Given the description of an element on the screen output the (x, y) to click on. 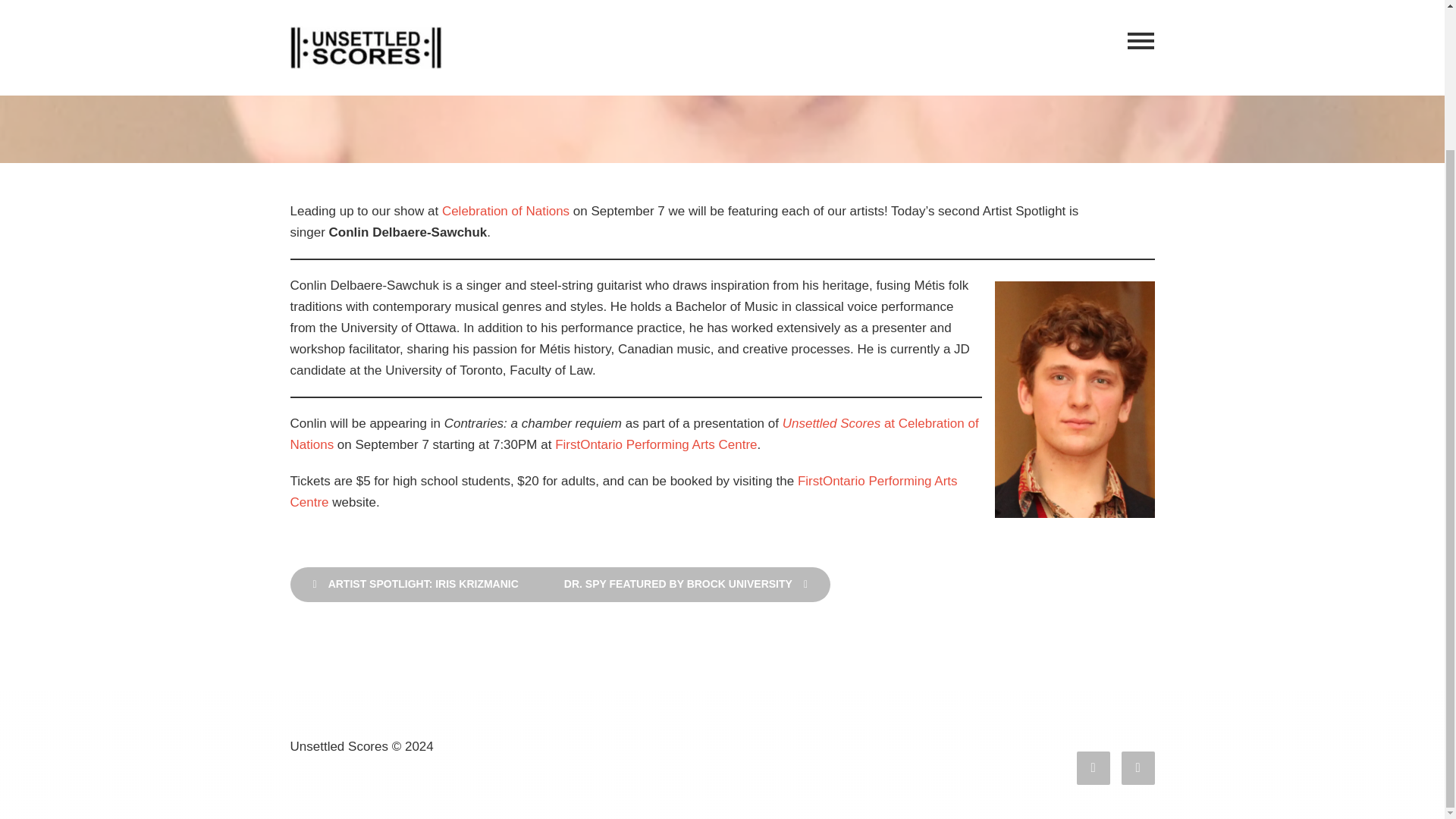
Twitter (1137, 767)
FirstOntario Performing Arts Centre (622, 491)
August 30, 2019 (484, 69)
Blog post (673, 69)
Artist Spotlight (597, 69)
Music (884, 69)
ARTIST SPOTLIGHT: IRIS KRIZMANIC (414, 584)
Celebration of Nations (505, 210)
FirstOntario Performing Arts Centre (655, 444)
DR. SPY FEATURED BY BROCK UNIVERSITY (685, 584)
